Given the description of an element on the screen output the (x, y) to click on. 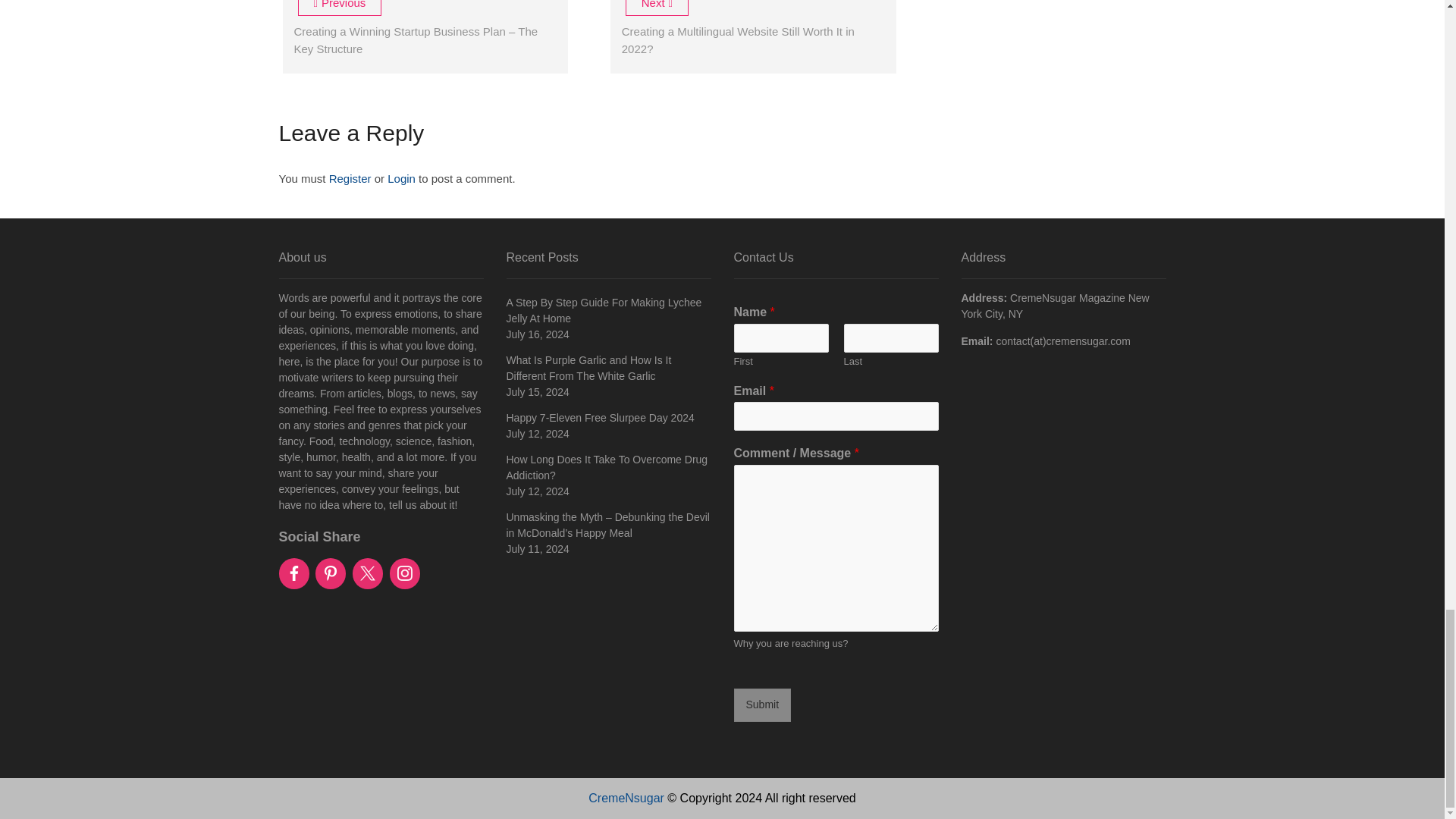
CremeNsugar (625, 797)
